Given the description of an element on the screen output the (x, y) to click on. 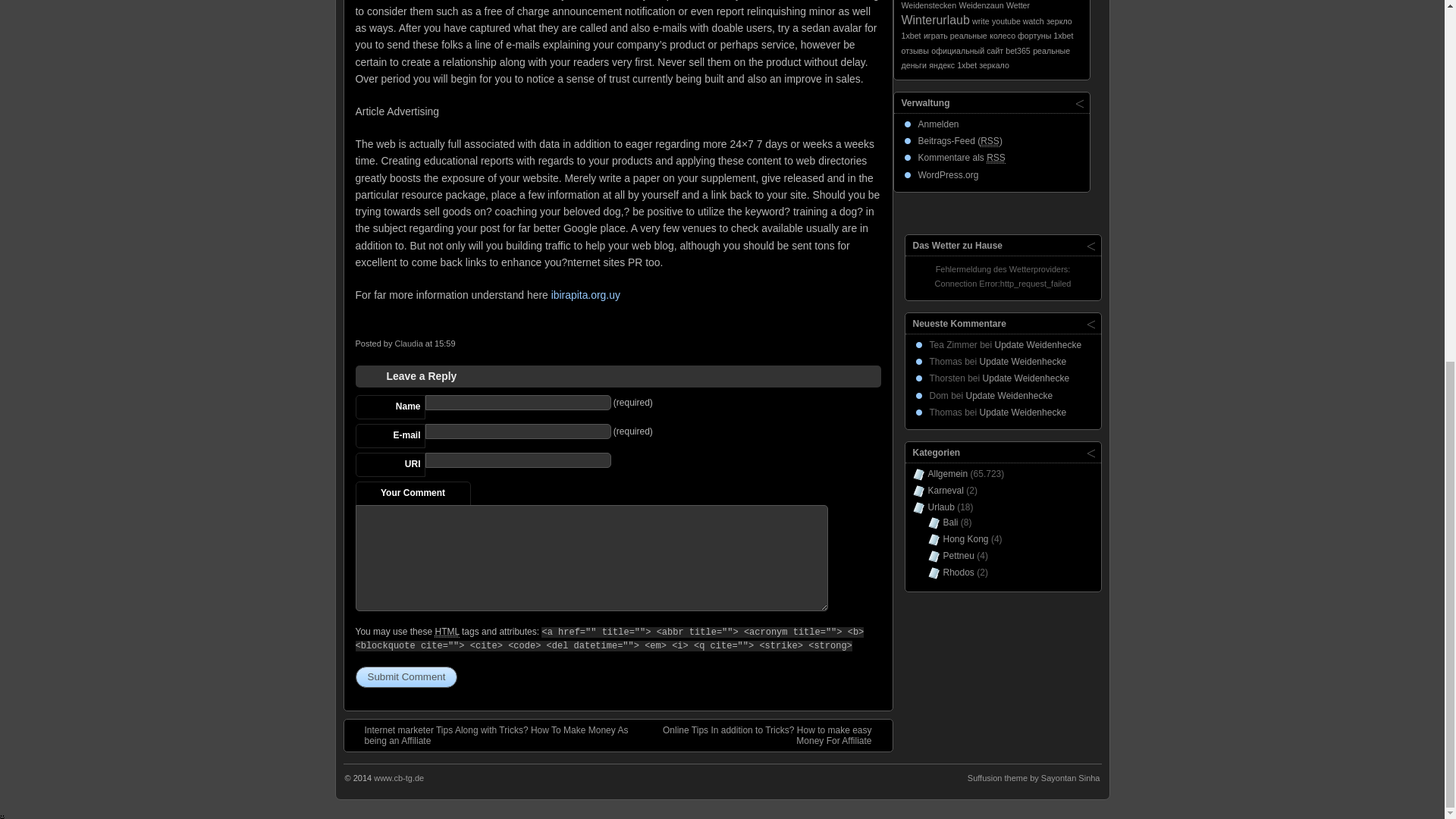
Submit Comment (406, 676)
Claudia (408, 343)
HyperText Markup Language (445, 632)
ibirapita.org.uy (585, 295)
Submit Comment (406, 676)
